Given the description of an element on the screen output the (x, y) to click on. 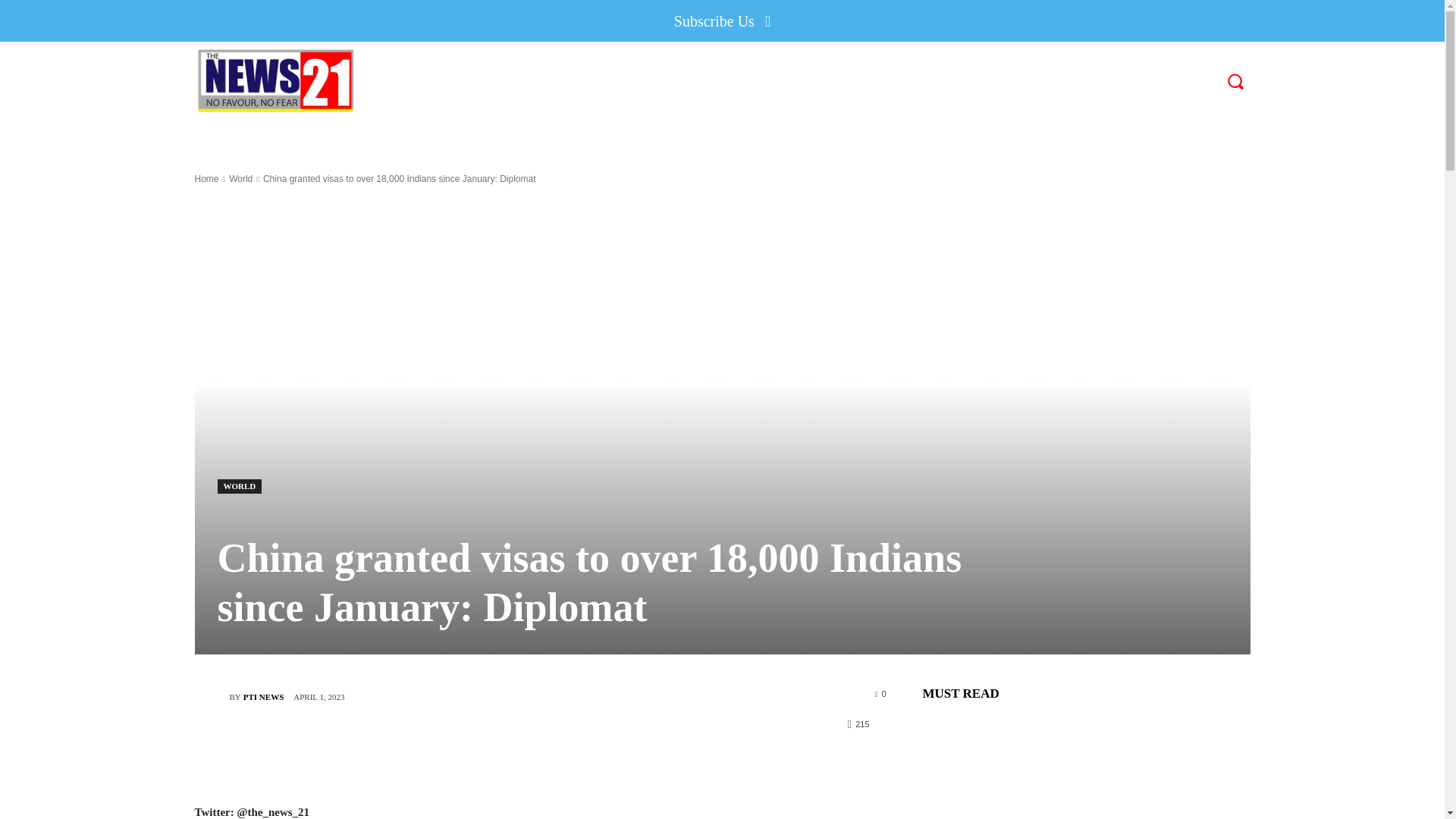
PTI NEWS (210, 696)
WORLD (239, 486)
World (239, 178)
View all posts in World (239, 178)
PTI NEWS (263, 696)
Home (205, 178)
0 (880, 692)
